Given the description of an element on the screen output the (x, y) to click on. 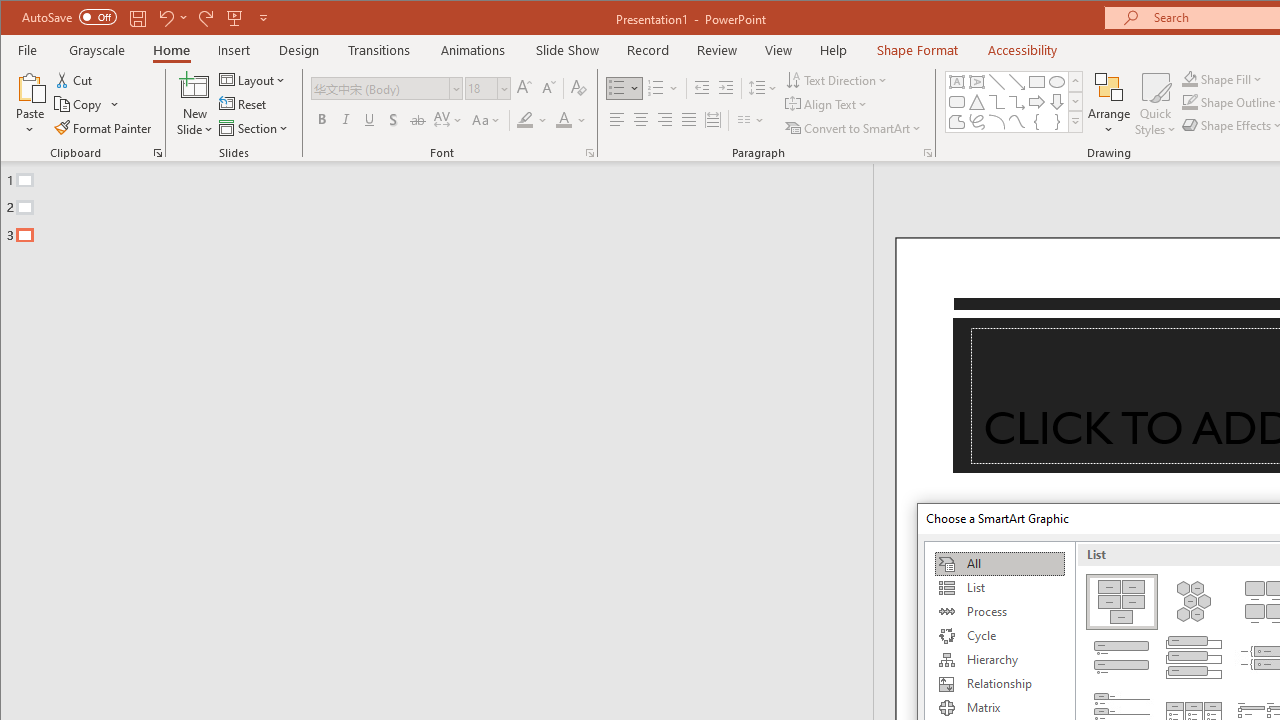
Font Size (487, 88)
Arrow: Down (1057, 102)
Text Direction (837, 80)
New Slide (195, 104)
All (999, 564)
AutomationID: ShapesInsertGallery (1014, 102)
Arrange (1108, 104)
Numbering (655, 88)
List (999, 587)
Row Down (1074, 101)
Align Left (616, 119)
Bold (321, 119)
